Given the description of an element on the screen output the (x, y) to click on. 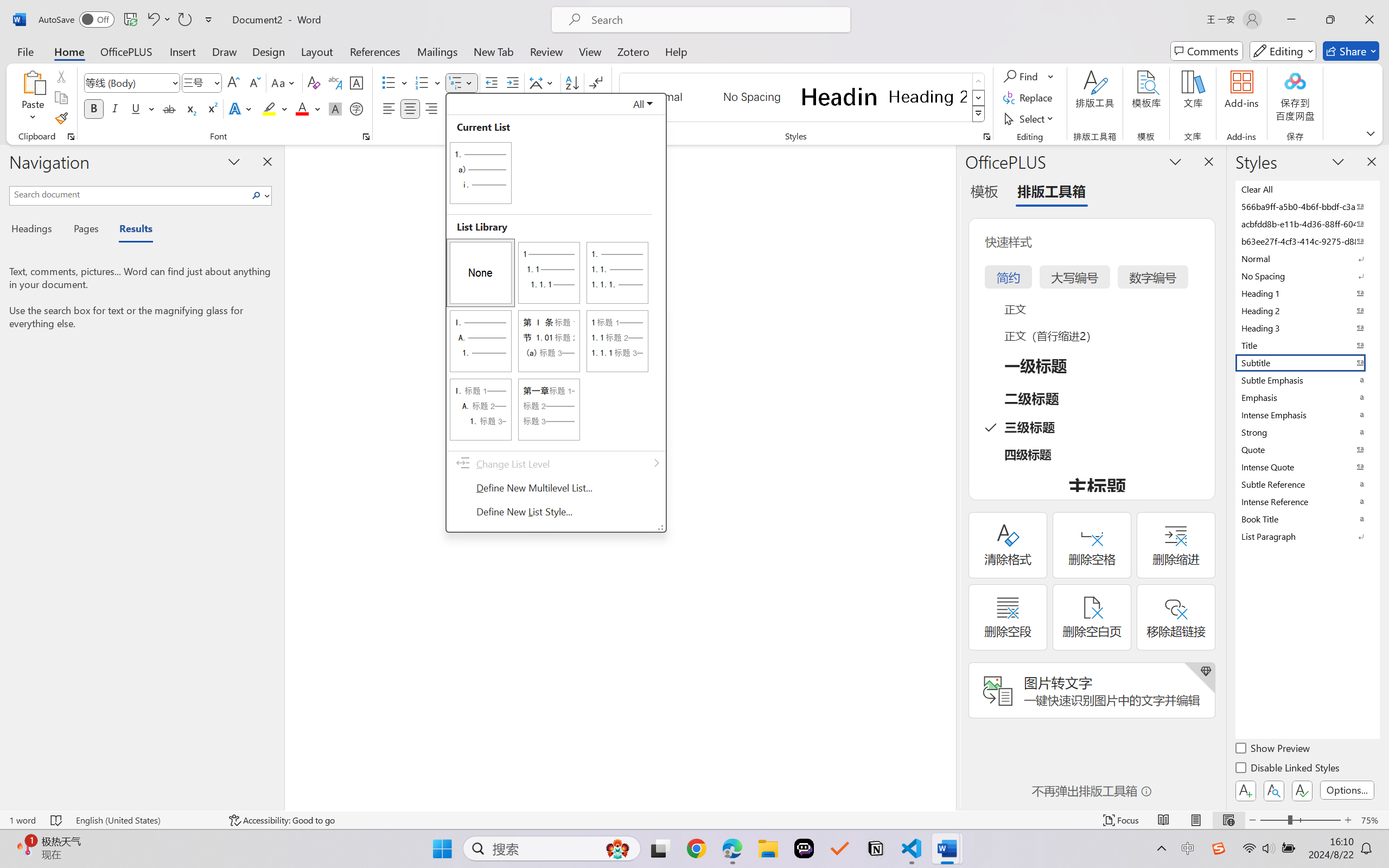
Change Case (284, 82)
Class: MsoCommandBar (694, 819)
Book Title (1306, 518)
Zoom Out (1273, 819)
Quick Access Toolbar (127, 19)
Language English (United States) (144, 819)
Clear All (1306, 188)
Strikethrough (169, 108)
Font Color Red (302, 108)
acbfdd8b-e11b-4d36-88ff-6049b138f862 (1306, 223)
AutomationID: DynamicSearchBoxGleamImage (617, 848)
Zoom In (1348, 819)
